Given the description of an element on the screen output the (x, y) to click on. 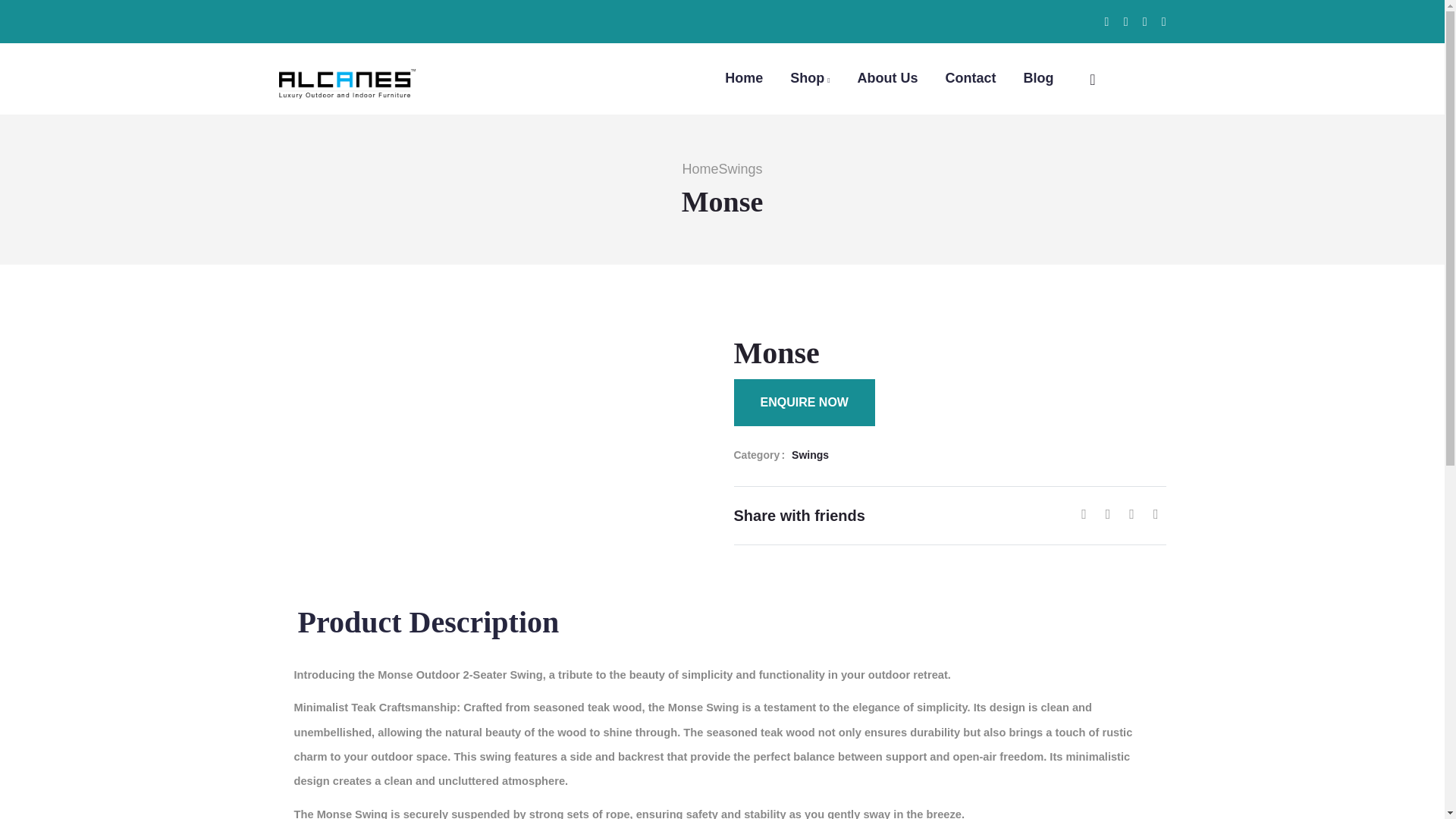
Home (743, 78)
Blog (1038, 78)
Home (346, 74)
Home (699, 168)
Swings (739, 168)
Shop (809, 78)
About Us (887, 78)
Contact (969, 78)
ENQUIRE NOW (804, 402)
